Given the description of an element on the screen output the (x, y) to click on. 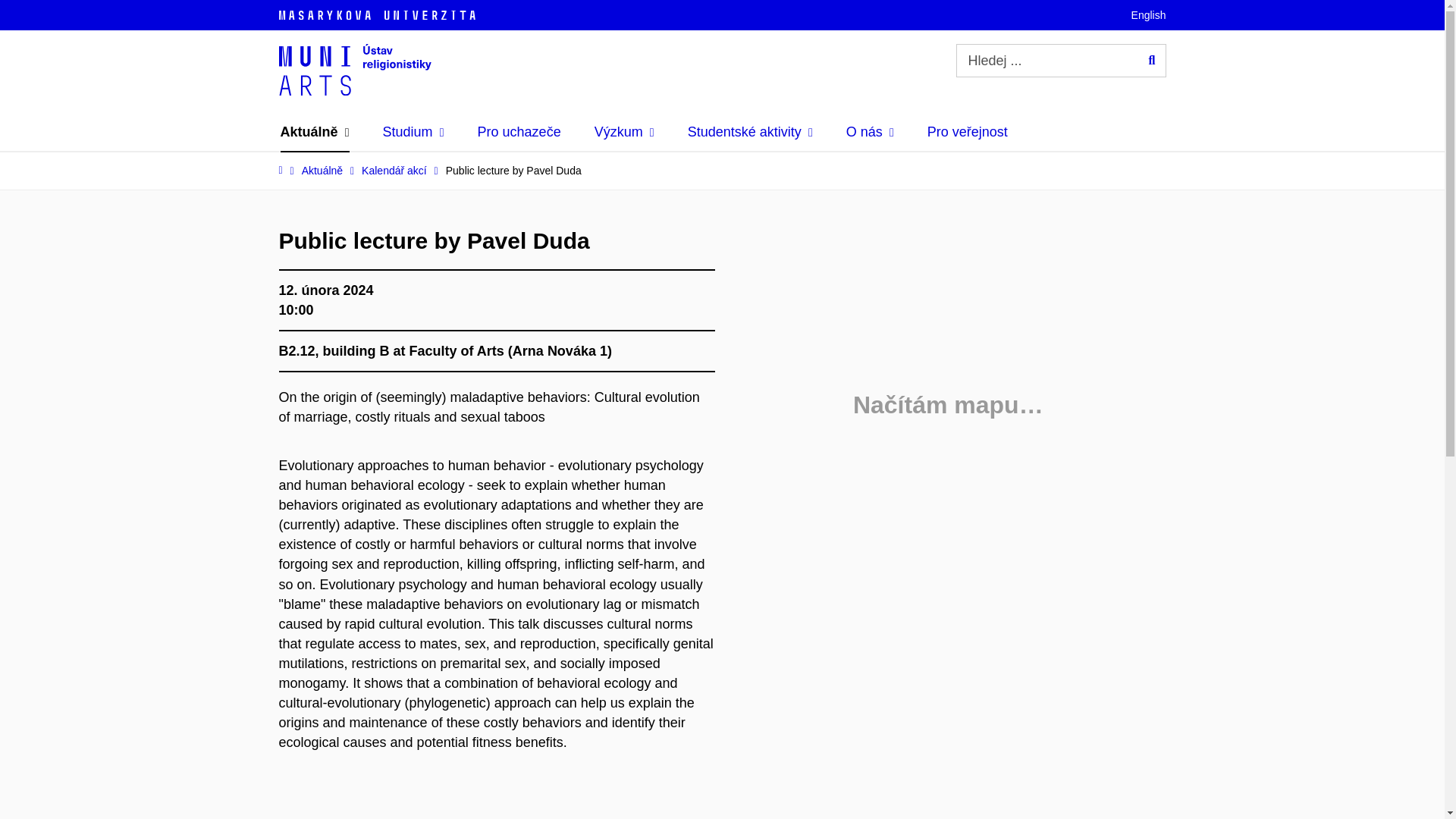
English (1148, 15)
Masarykova univerzita (377, 15)
Homepage webu (354, 69)
Studium (413, 131)
